Given the description of an element on the screen output the (x, y) to click on. 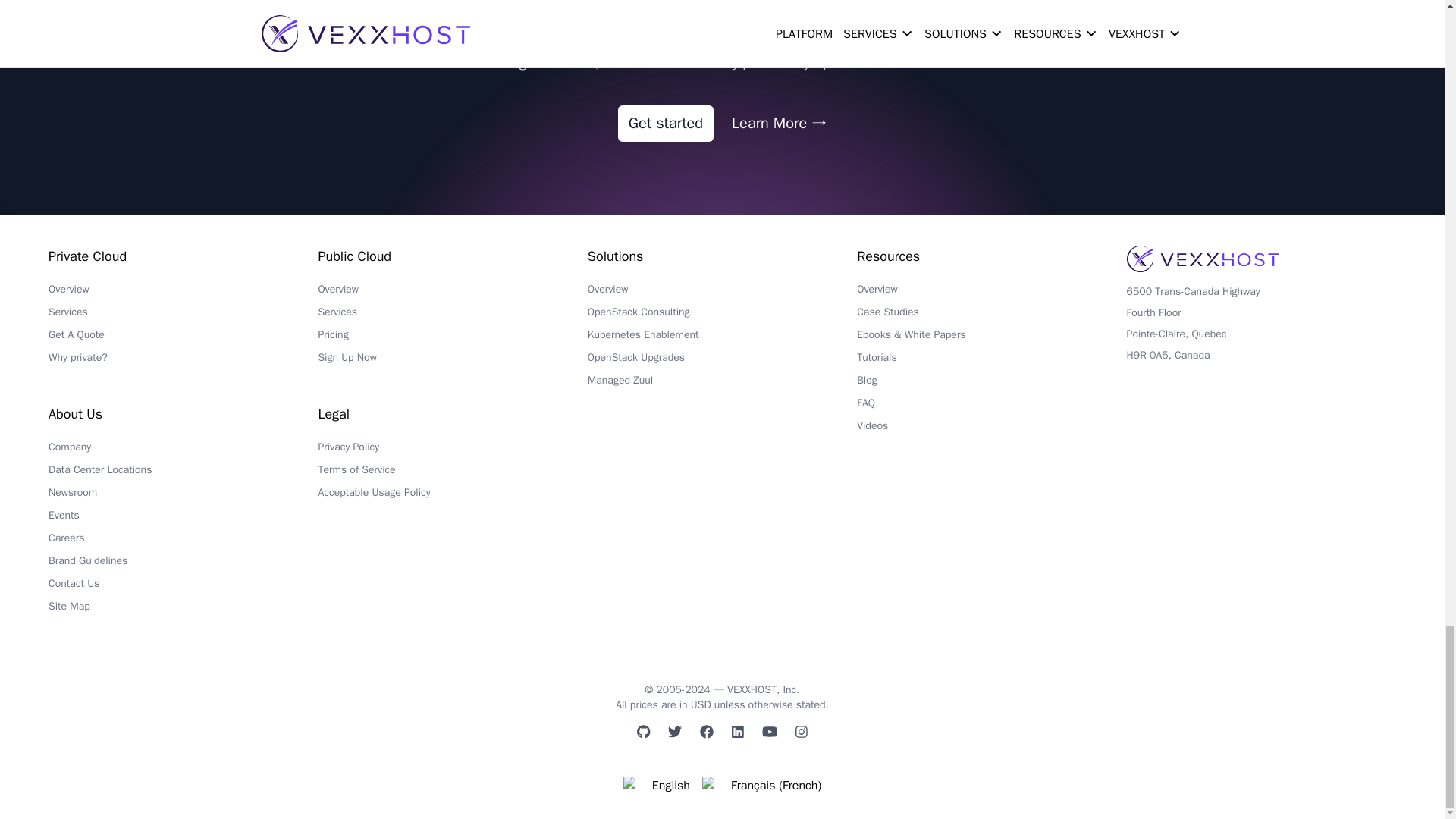
Why private? (182, 361)
Services (182, 315)
Events (182, 518)
Data Center Locations (182, 473)
Overview (182, 292)
Newsroom (182, 496)
Get started (665, 123)
Get A Quote (182, 338)
Company (182, 450)
